Given the description of an element on the screen output the (x, y) to click on. 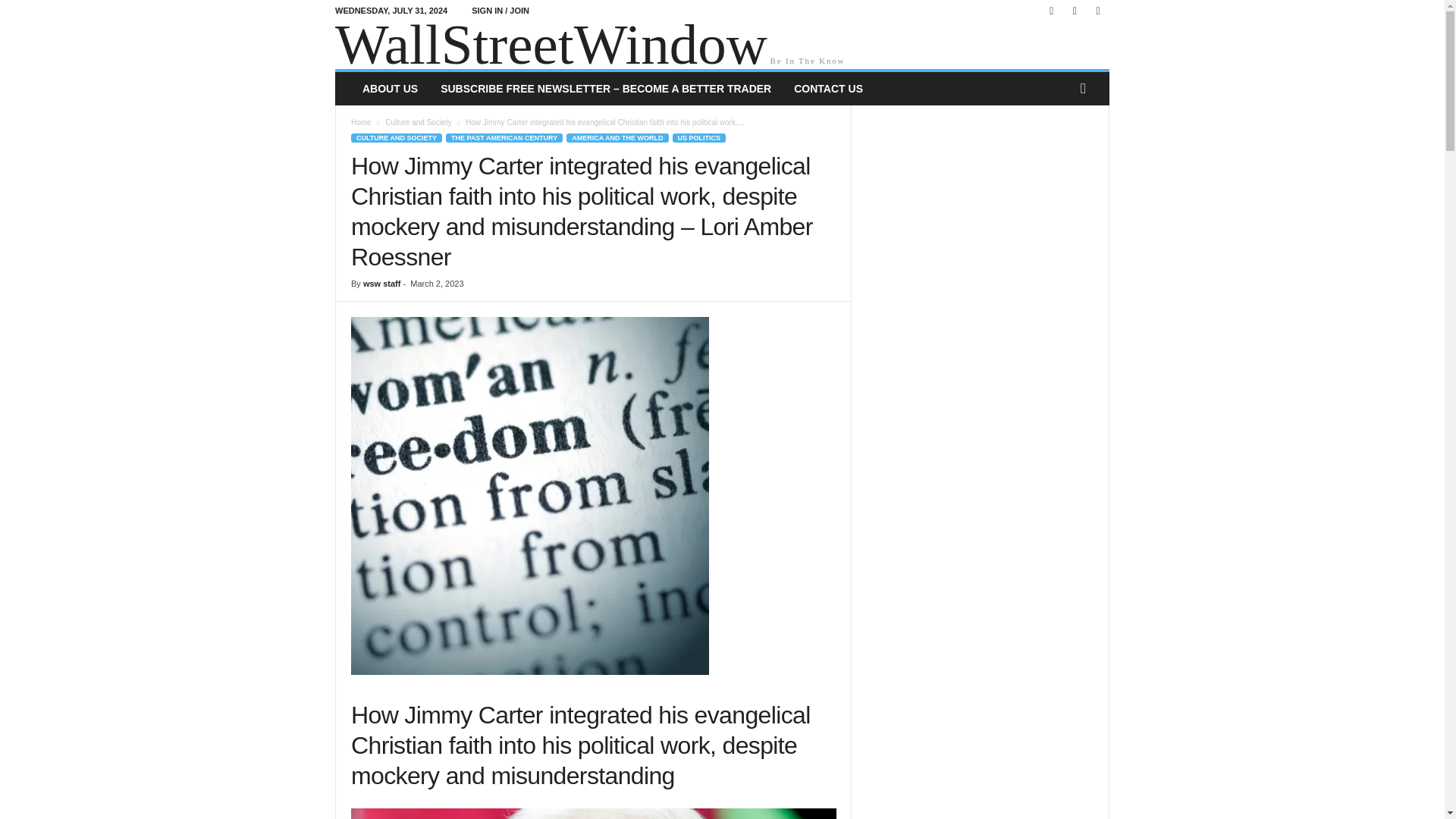
AMERICA AND THE WORLD (617, 137)
Culture and Society (418, 121)
View all posts in Culture and Society (418, 121)
featured-libertarian (529, 495)
wsw staff (381, 283)
CULTURE AND SOCIETY (396, 137)
US POLITICS (699, 137)
WallStreetWindow Be In The Know (721, 45)
THE PAST AMERICAN CENTURY (503, 137)
CONTACT US (829, 88)
ABOUT US (389, 88)
Home (360, 121)
